Given the description of an element on the screen output the (x, y) to click on. 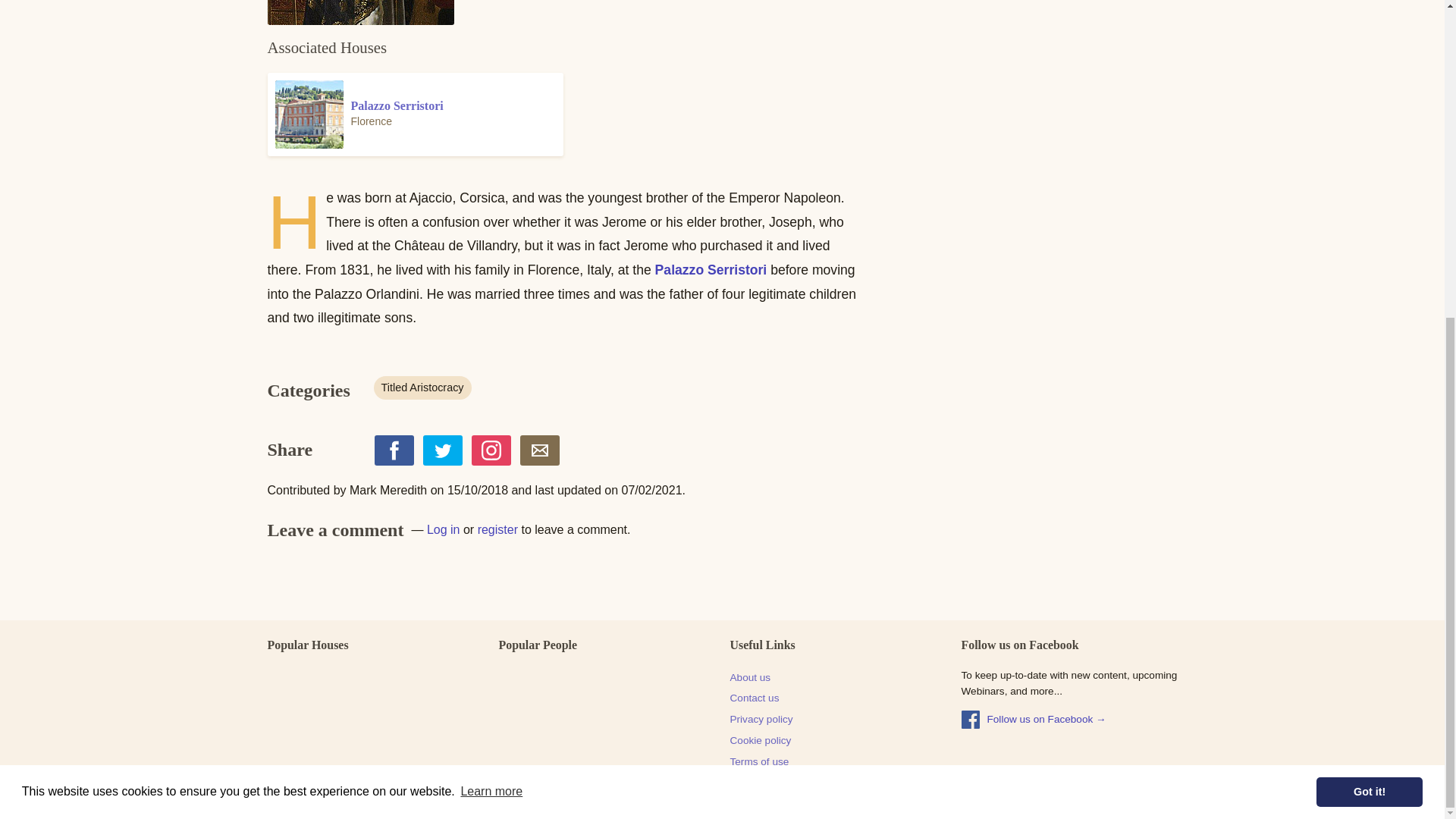
Privacy policy (760, 719)
Titled Aristocracy (421, 387)
Palazzo Serristori (711, 269)
Cookie policy (759, 740)
Contact us (753, 698)
Got it! (1369, 279)
About us (749, 677)
register (497, 529)
Palazzo Serristori (414, 114)
Terms of use (759, 762)
